Given the description of an element on the screen output the (x, y) to click on. 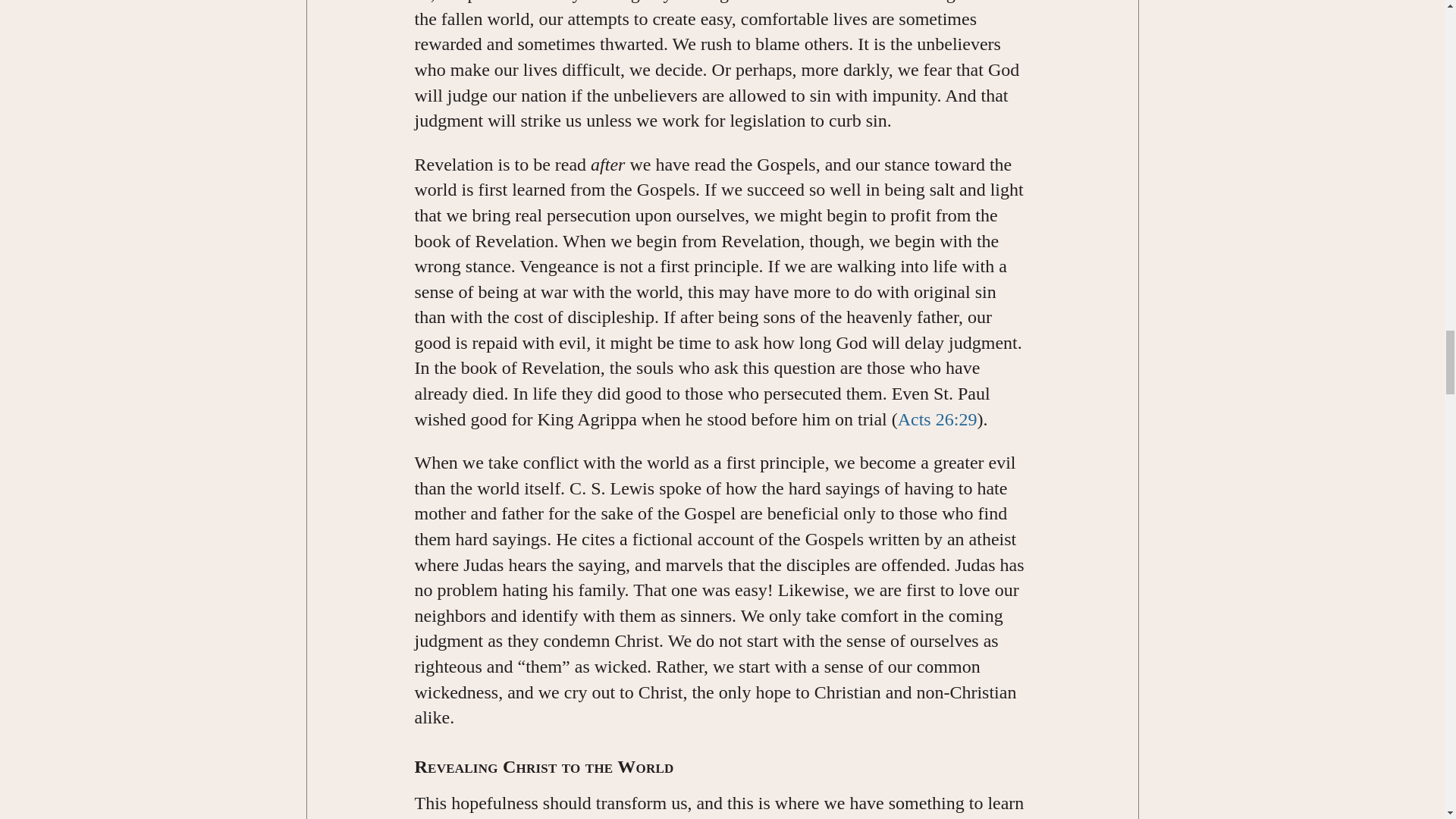
Acts 26:29 (937, 419)
